Given the description of an element on the screen output the (x, y) to click on. 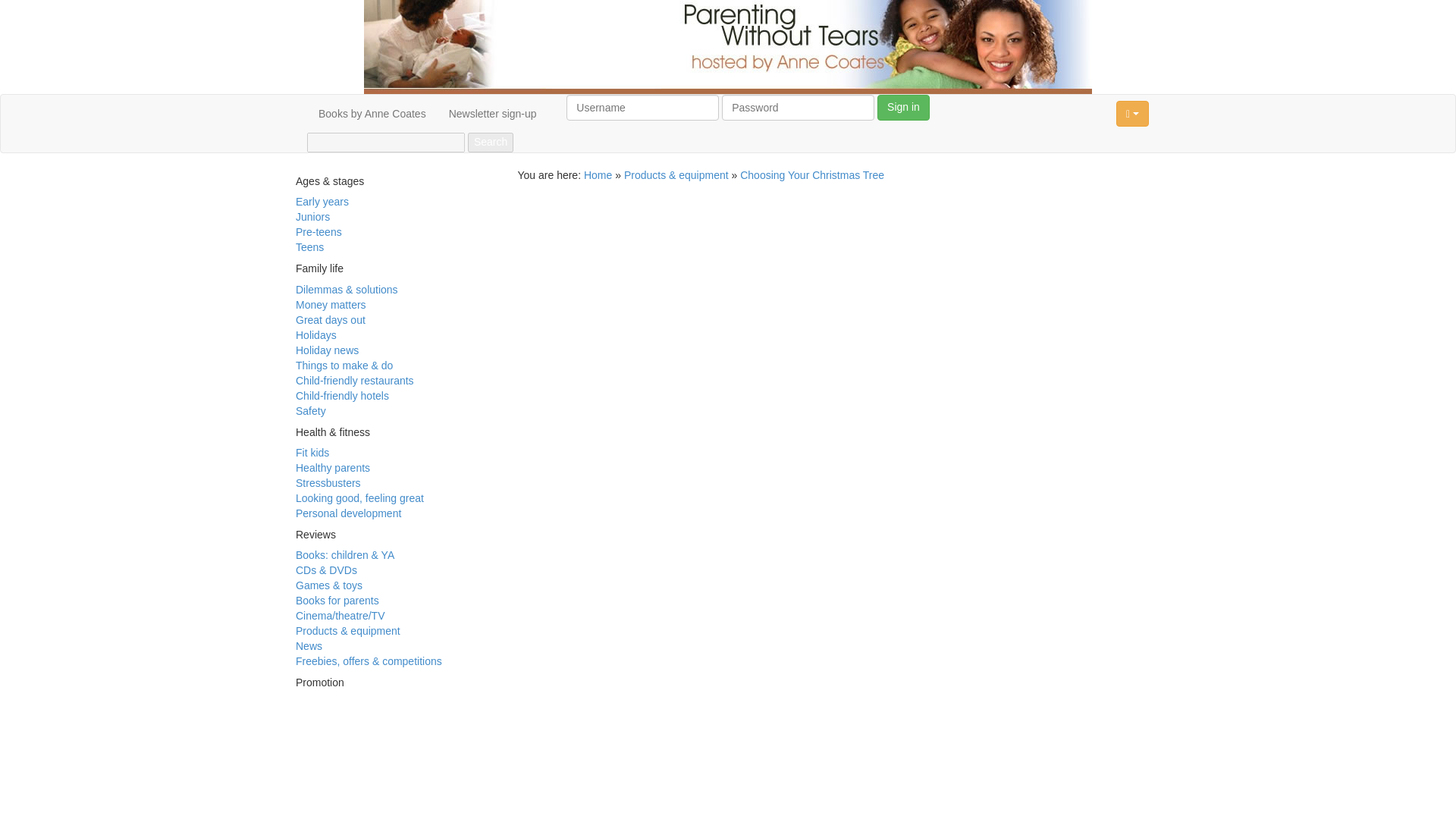
Teens (309, 246)
Stressbusters (328, 482)
Safety (310, 410)
Books for parents (336, 600)
Pre-teens (318, 232)
Juniors (312, 216)
Holidays (315, 335)
Great days out (330, 319)
Early years (322, 201)
Money matters (330, 304)
Holiday news (326, 349)
Looking good, feeling great (359, 498)
Healthy parents (332, 467)
Child-friendly hotels (341, 395)
Newsletter sign-up (493, 113)
